Given the description of an element on the screen output the (x, y) to click on. 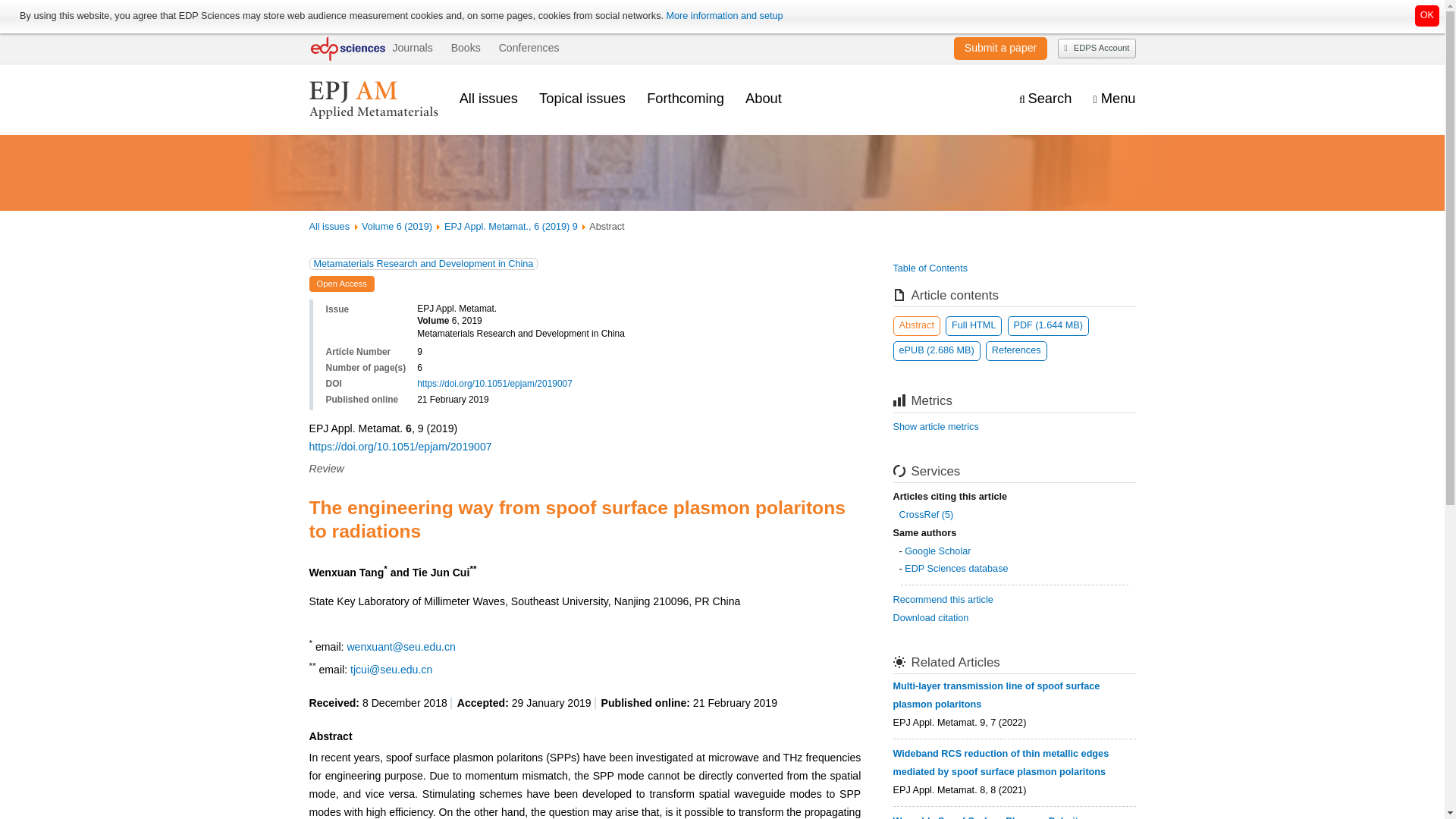
Metamaterials Research and Development in China (423, 263)
Journals (411, 47)
Full HTML (972, 325)
Abstract (916, 325)
References (1015, 351)
Conferences (529, 47)
Display the search engine (1045, 98)
OK (1427, 15)
Submit a paper (999, 47)
All issues (489, 98)
